Given the description of an element on the screen output the (x, y) to click on. 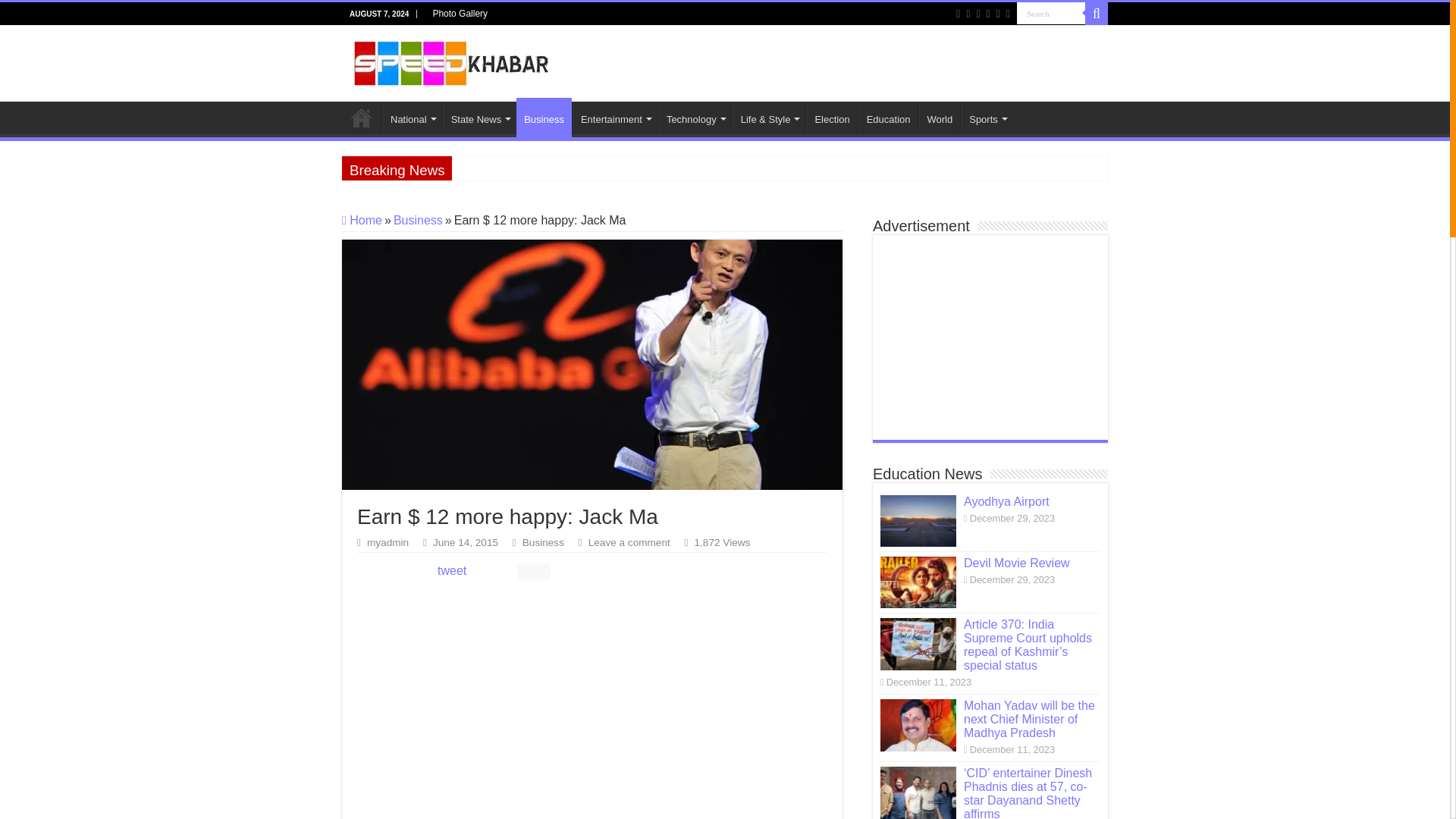
Photo Gallery (460, 13)
Search (1050, 13)
Speed Khabar (451, 60)
Search (1050, 13)
Search (1096, 13)
Home (361, 117)
National (411, 117)
Search (1050, 13)
